Given the description of an element on the screen output the (x, y) to click on. 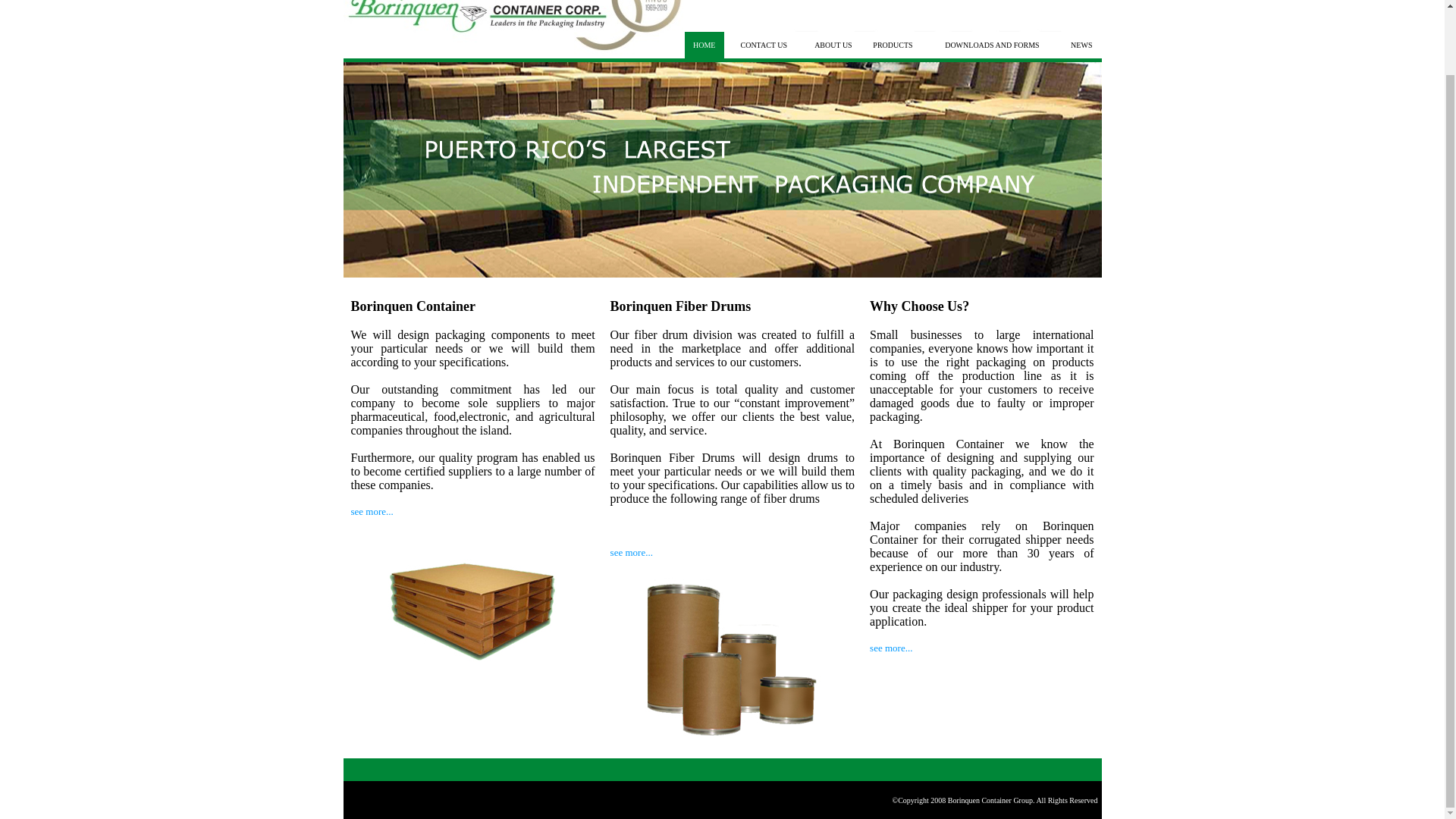
ABOUT US (832, 44)
see more... (631, 552)
Borinquen Container (413, 305)
Borinquen Fiber Drums (680, 305)
see more... (890, 647)
NEWS (1081, 44)
CONTACT US (763, 44)
see more... (371, 511)
DOWNLOADS AND FORMS (991, 44)
Why Choose Us? (919, 305)
PRODUCTS (892, 44)
HOME (703, 44)
